Given the description of an element on the screen output the (x, y) to click on. 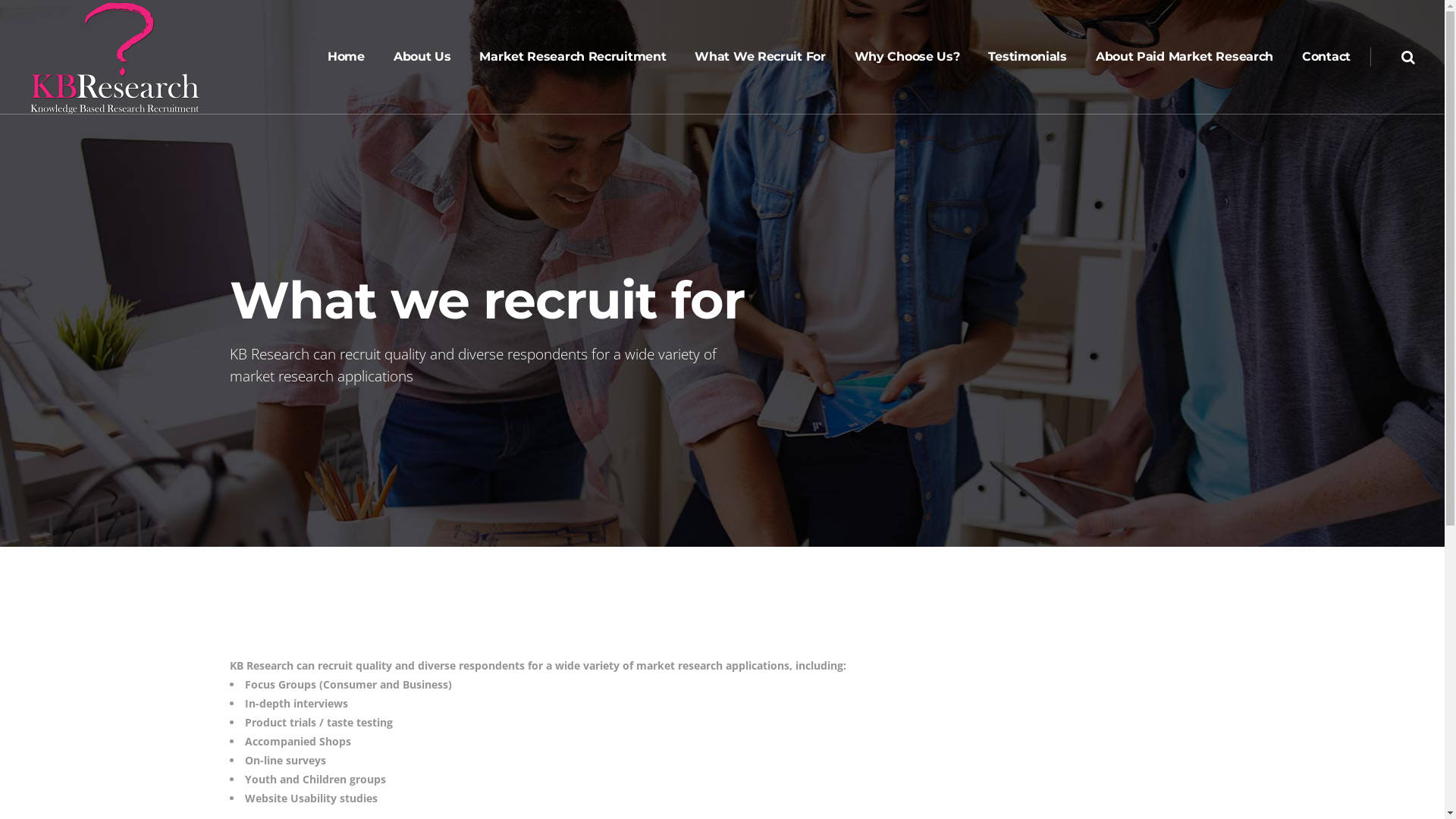
Market Research Recruitment Element type: text (572, 56)
Home Element type: text (346, 56)
About Paid Market Research Element type: text (1184, 56)
What We Recruit For Element type: text (759, 56)
Contact Element type: text (1326, 56)
Why Choose Us? Element type: text (907, 56)
Testimonials Element type: text (1026, 56)
About Us Element type: text (422, 56)
